Given the description of an element on the screen output the (x, y) to click on. 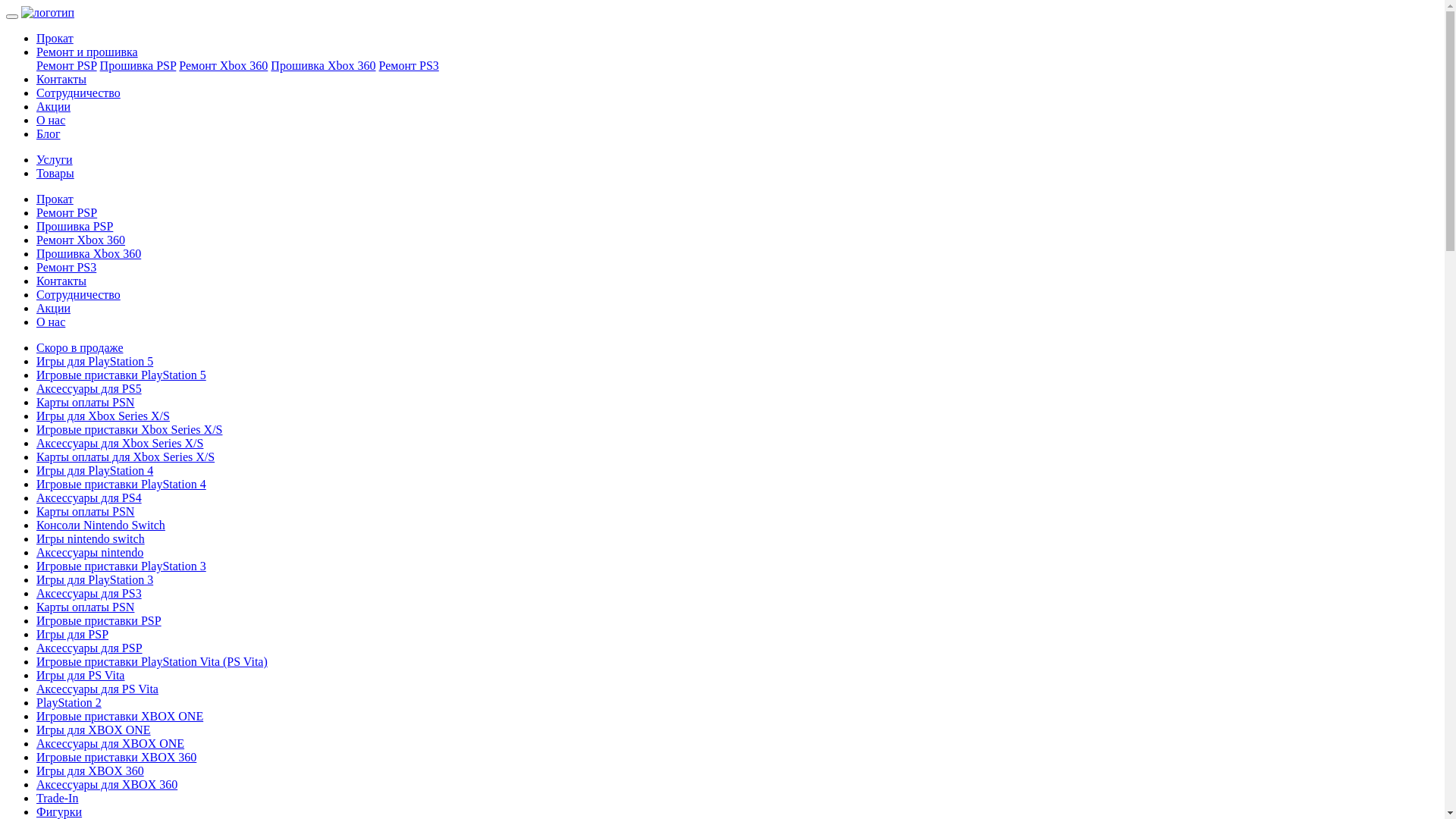
PlayStation 2 Element type: text (68, 702)
Trade-In Element type: text (57, 797)
